Given the description of an element on the screen output the (x, y) to click on. 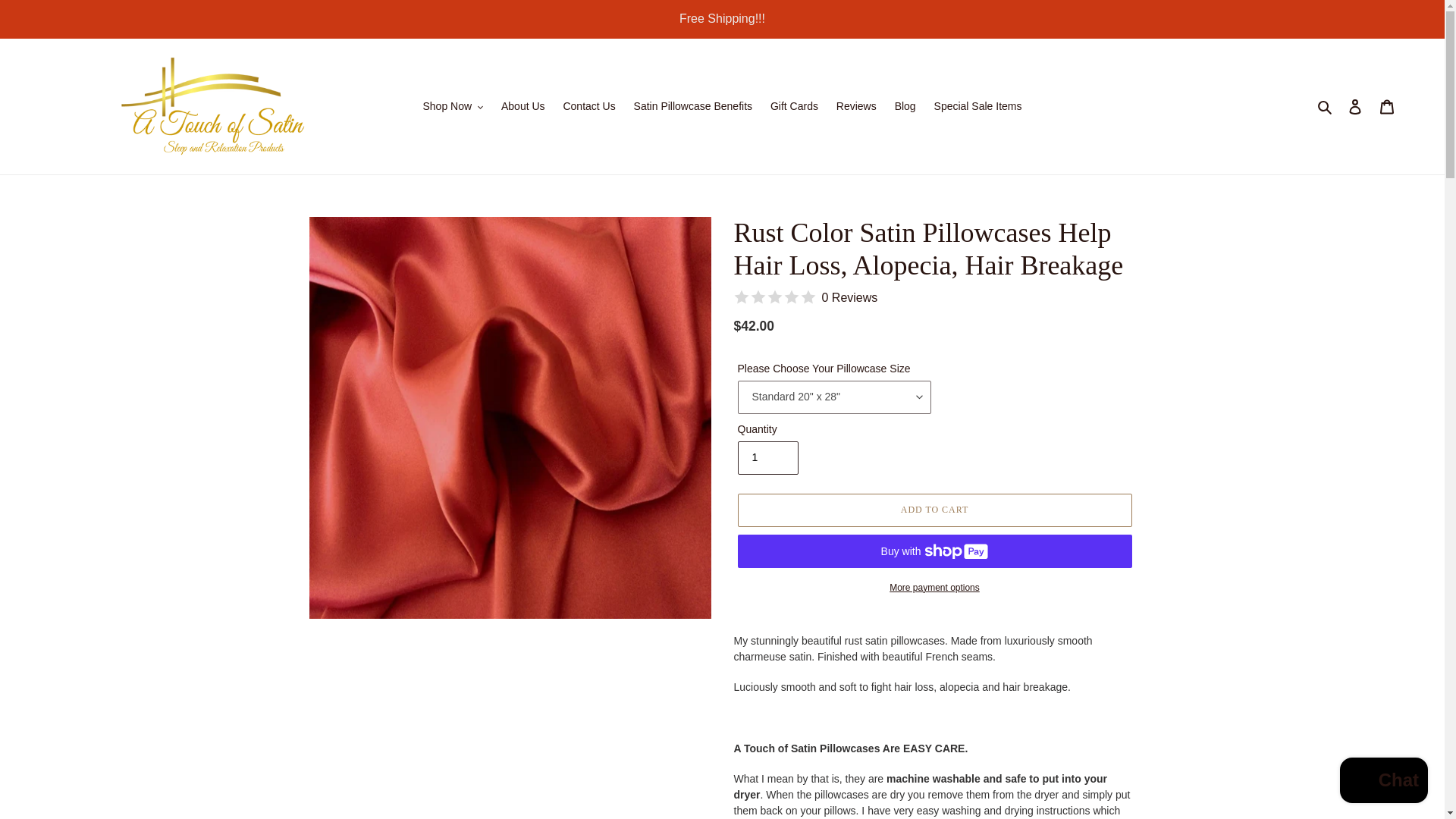
Free Shipping!!! (721, 18)
Search (1326, 106)
Reviews (855, 106)
Shop Now (453, 106)
Blog (904, 106)
Cart (1387, 106)
Shopify online store chat (1383, 781)
Contact Us (588, 106)
Log in (1355, 106)
Gift Cards (793, 106)
